Given the description of an element on the screen output the (x, y) to click on. 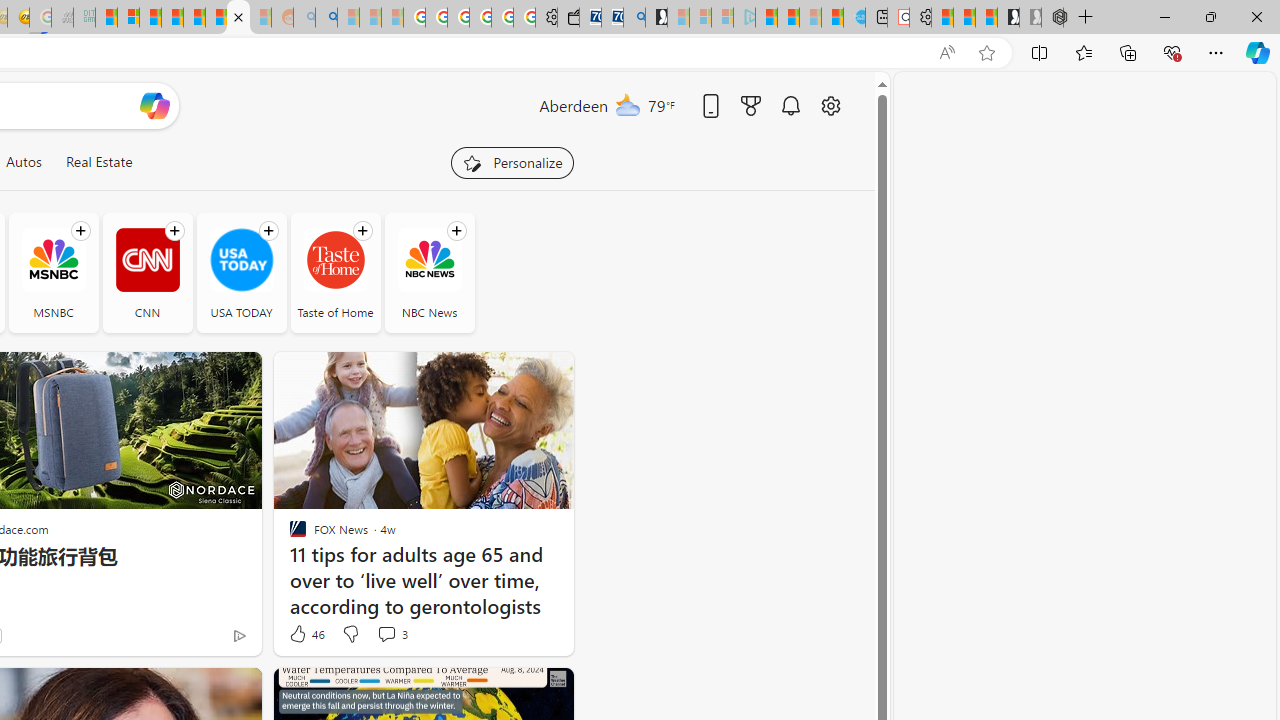
Bing Real Estate - Home sales and rental listings (634, 17)
Student Loan Update: Forgiveness Program Ends This Month (172, 17)
View comments 3 Comment (386, 633)
